Given the description of an element on the screen output the (x, y) to click on. 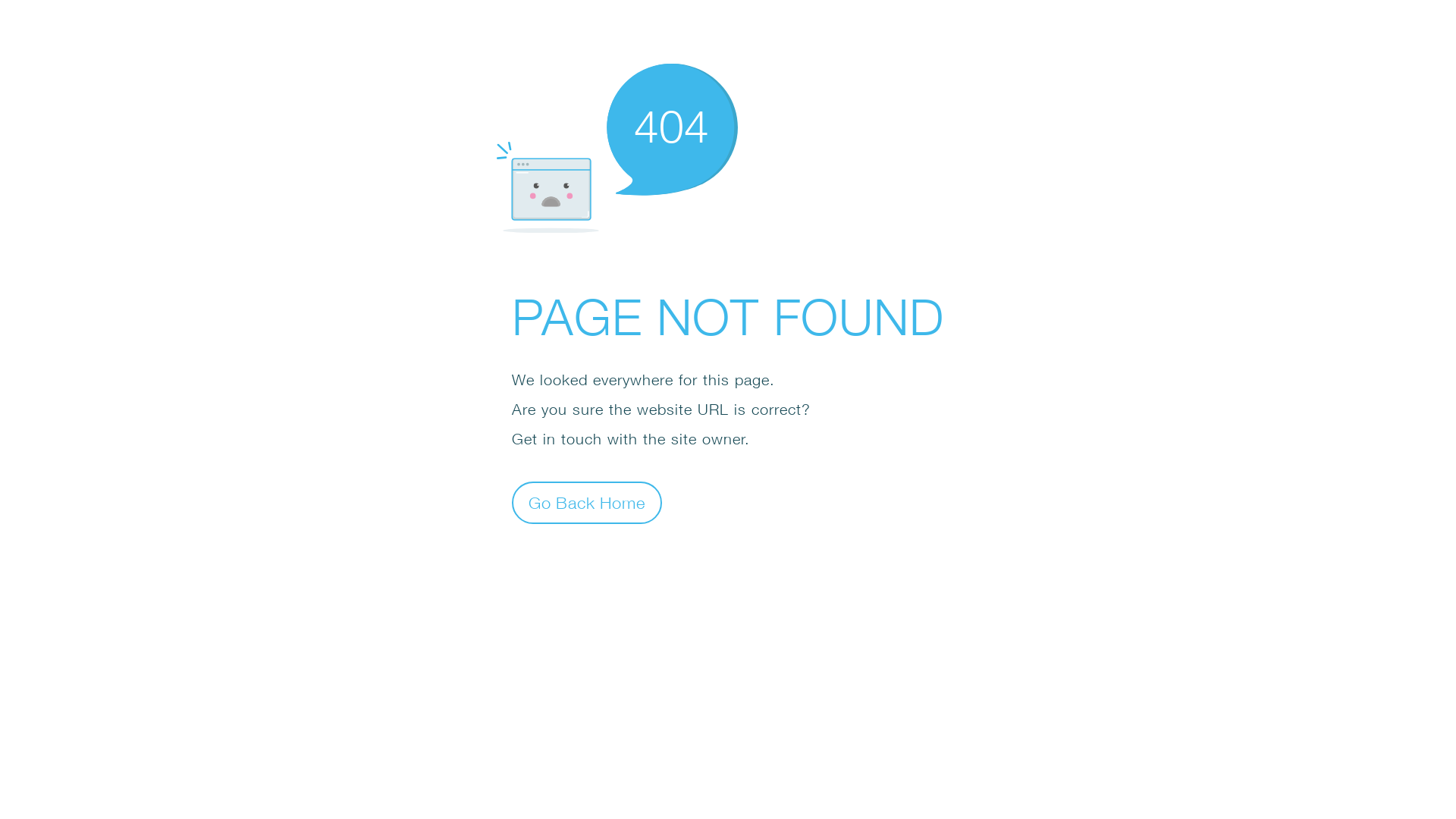
Go Back Home Element type: text (586, 502)
